Given the description of an element on the screen output the (x, y) to click on. 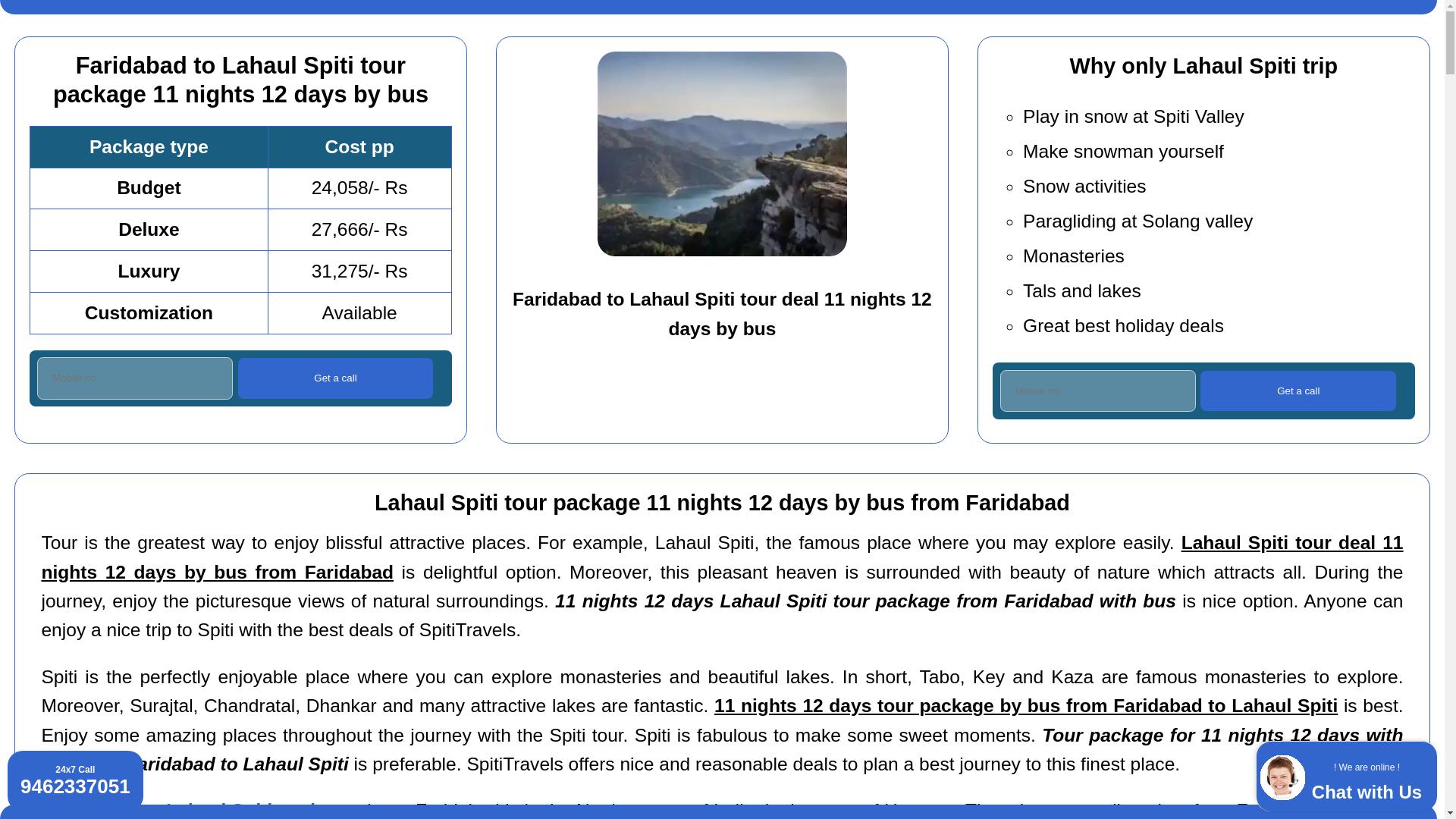
Lahaul Spiti packages (262, 809)
Enter your Mo. no. only digits (1348, 778)
Enter your Mo. no. only digits (134, 377)
Get a call (1097, 390)
Get a call (335, 377)
Get a call (1297, 391)
Get a call (335, 377)
